Given the description of an element on the screen output the (x, y) to click on. 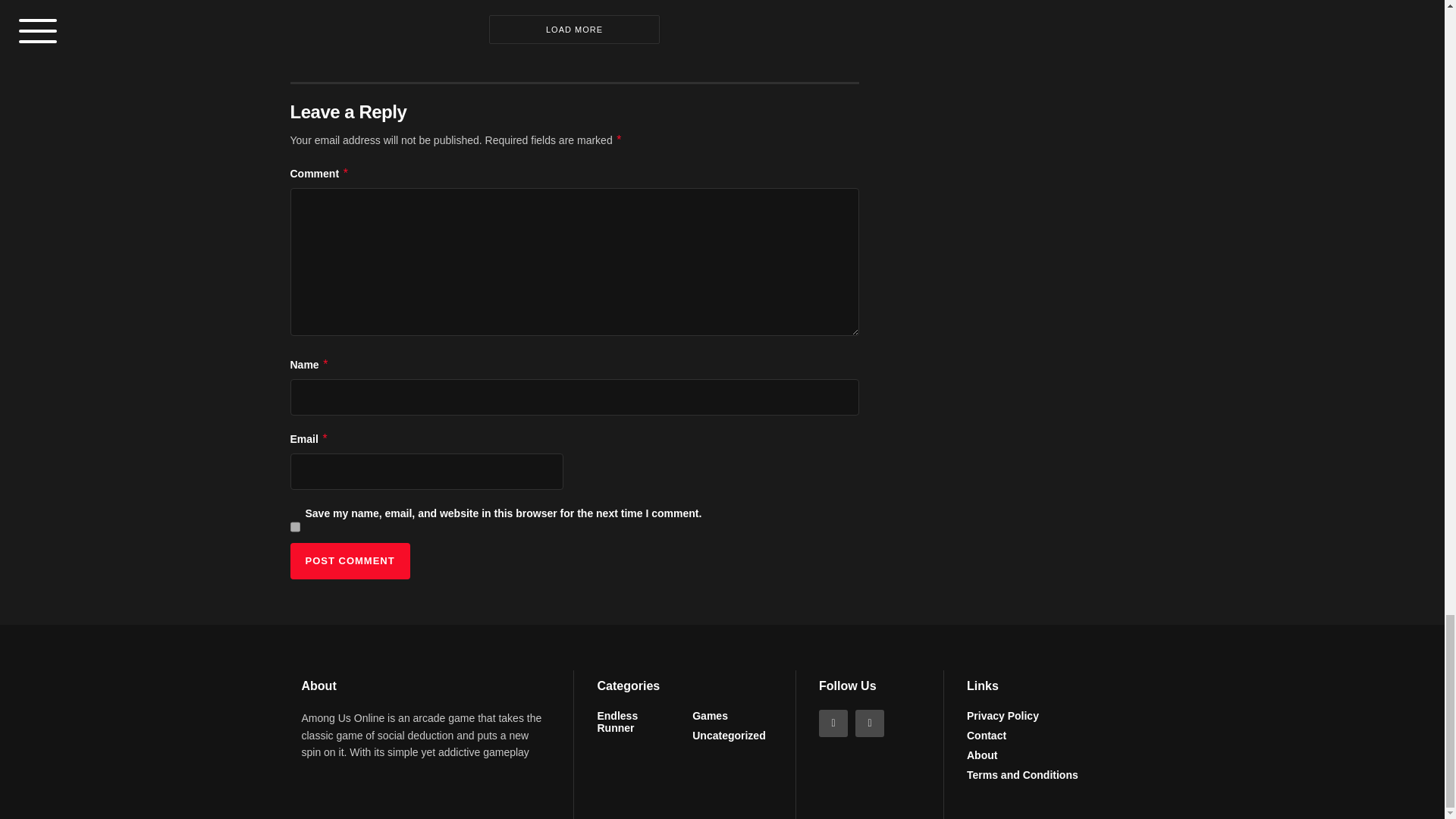
Post Comment (349, 560)
